Given the description of an element on the screen output the (x, y) to click on. 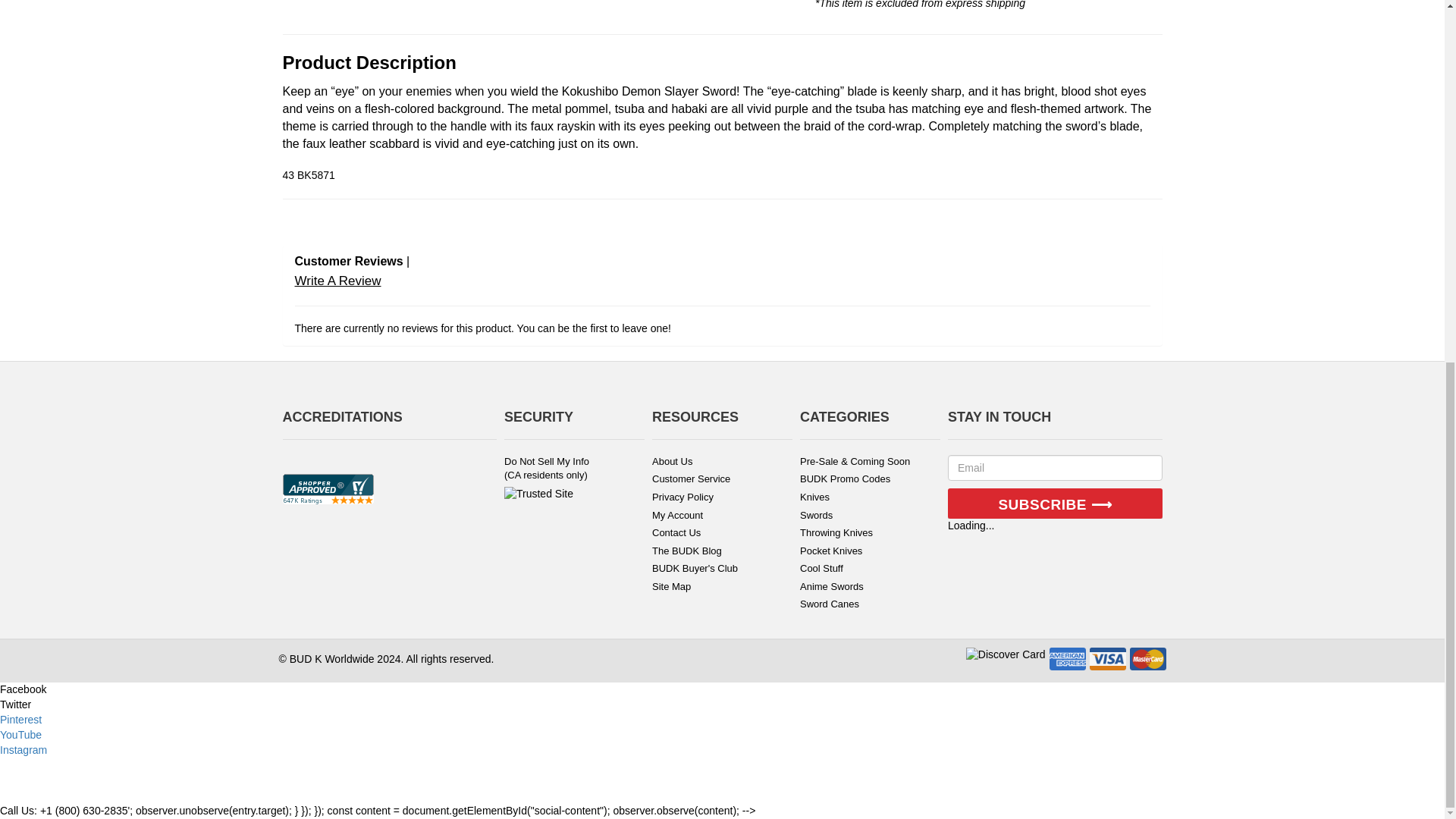
View TrustedSite Certification (538, 493)
